Given the description of an element on the screen output the (x, y) to click on. 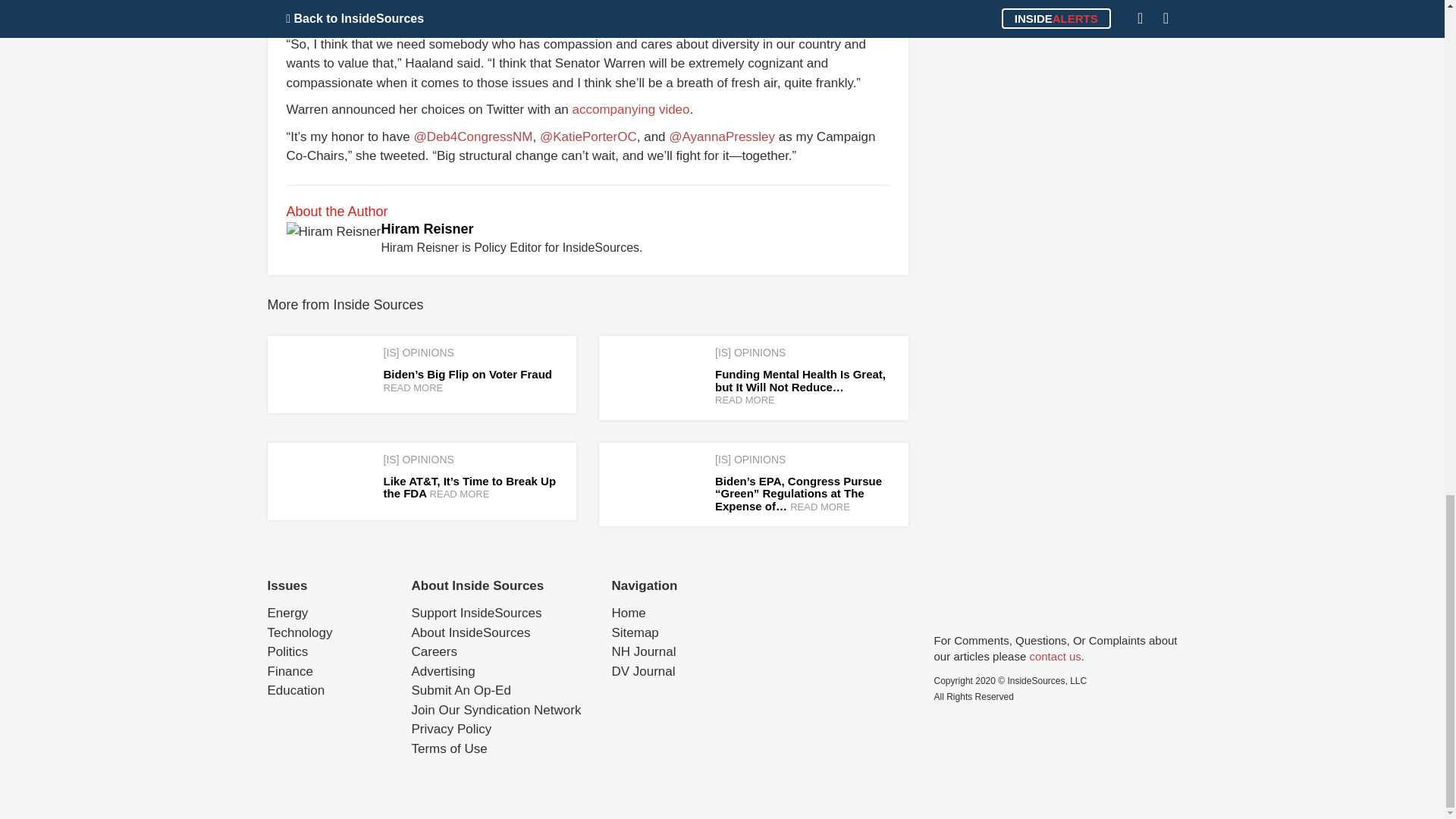
Hiram Reisner (426, 228)
Hiram Reisner (426, 228)
accompanying video (631, 109)
